Given the description of an element on the screen output the (x, y) to click on. 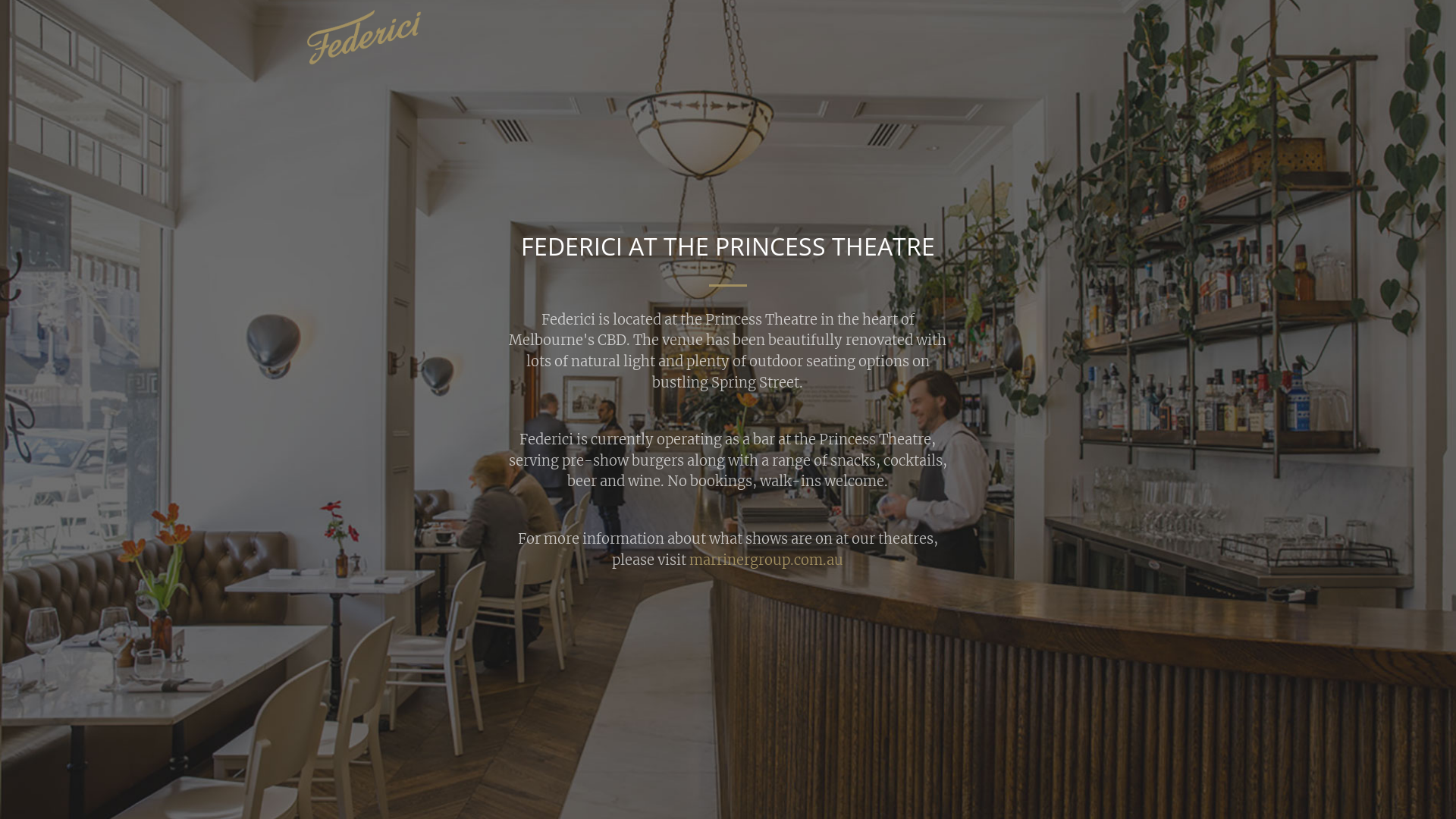
marrinergroup.com.au Element type: text (766, 559)
